Given the description of an element on the screen output the (x, y) to click on. 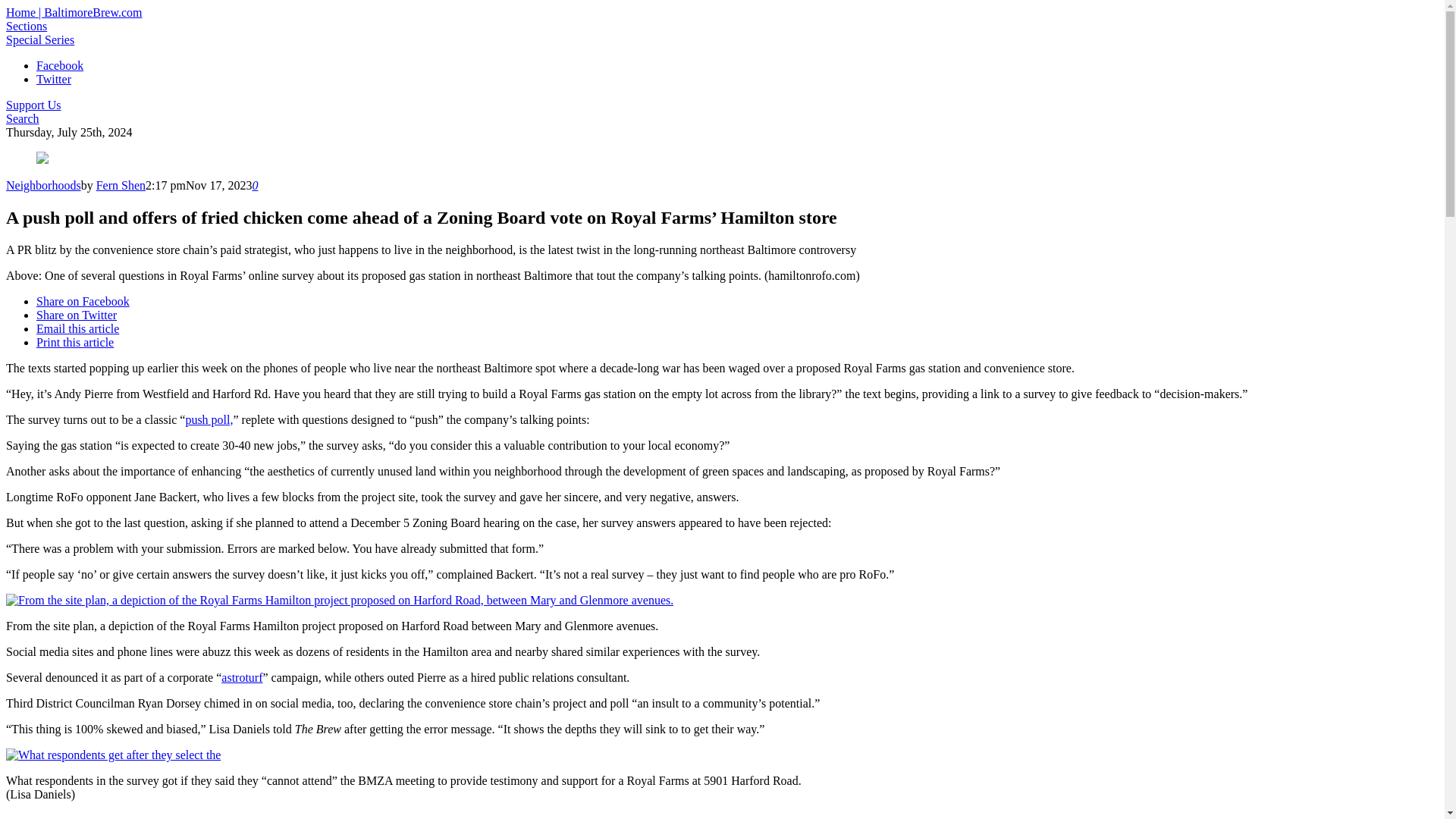
Facebook (59, 65)
Search (22, 118)
Twitter (53, 78)
Print this article (74, 341)
Sections (25, 25)
astroturf (241, 676)
Fern Shen (120, 185)
Special Series (39, 39)
Email this article (77, 328)
Neighborhoods (43, 185)
push poll, (208, 419)
Share on Twitter (76, 314)
Support Us (33, 104)
Share on Facebook (82, 300)
0 (254, 185)
